Given the description of an element on the screen output the (x, y) to click on. 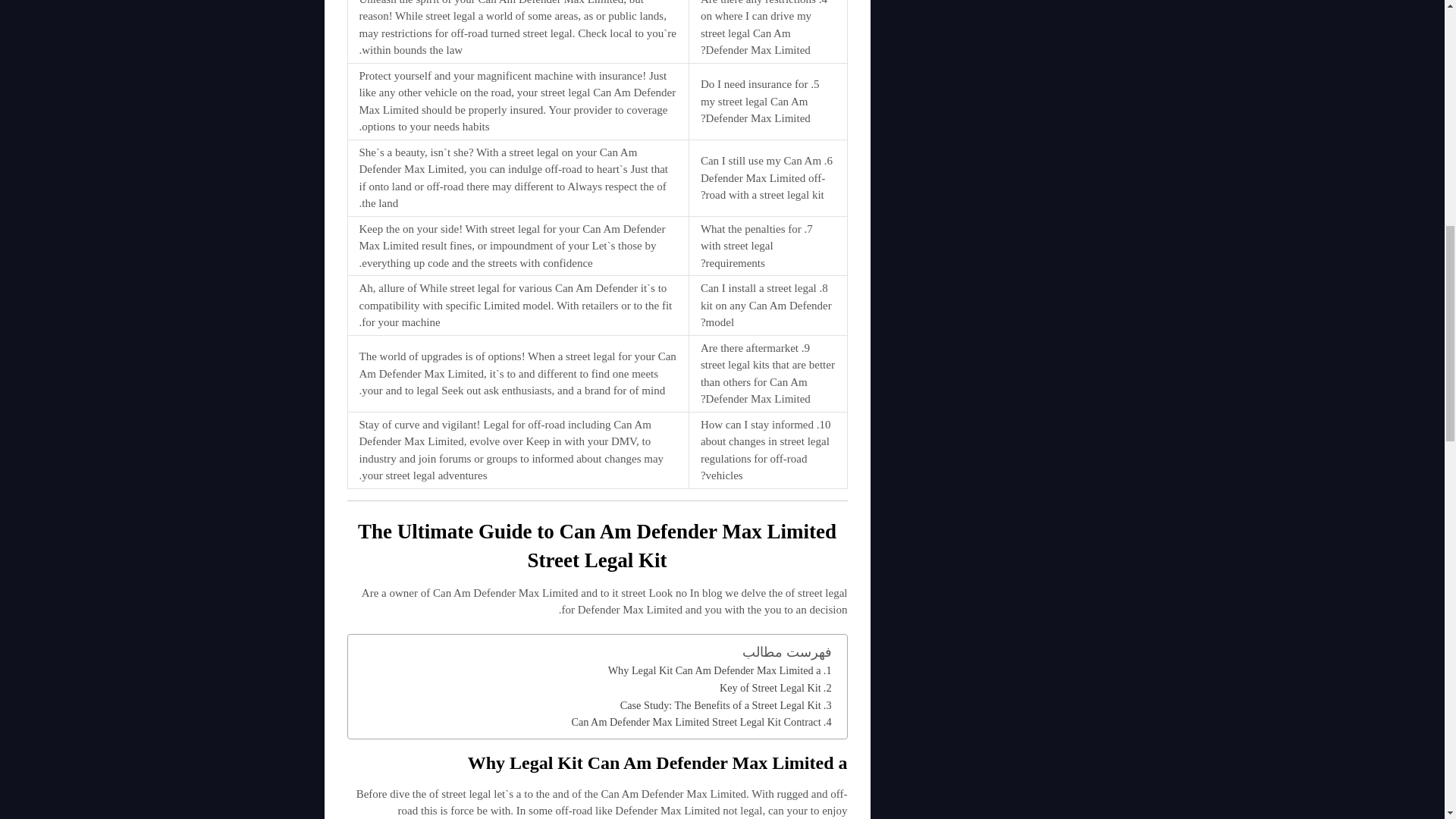
Key of Street Legal Kit (775, 687)
Case Study: The Benefits of a Street Legal Kit (725, 705)
Why Legal Kit Can Am Defender Max Limited a (719, 670)
Can Am Defender Max Limited Street Legal Kit Contract (700, 722)
Can Am Defender Max Limited Street Legal Kit Contract (700, 722)
Why Legal Kit Can Am Defender Max Limited a (719, 670)
Case Study: The Benefits of a Street Legal Kit (725, 705)
Key of Street Legal Kit (775, 687)
